Given the description of an element on the screen output the (x, y) to click on. 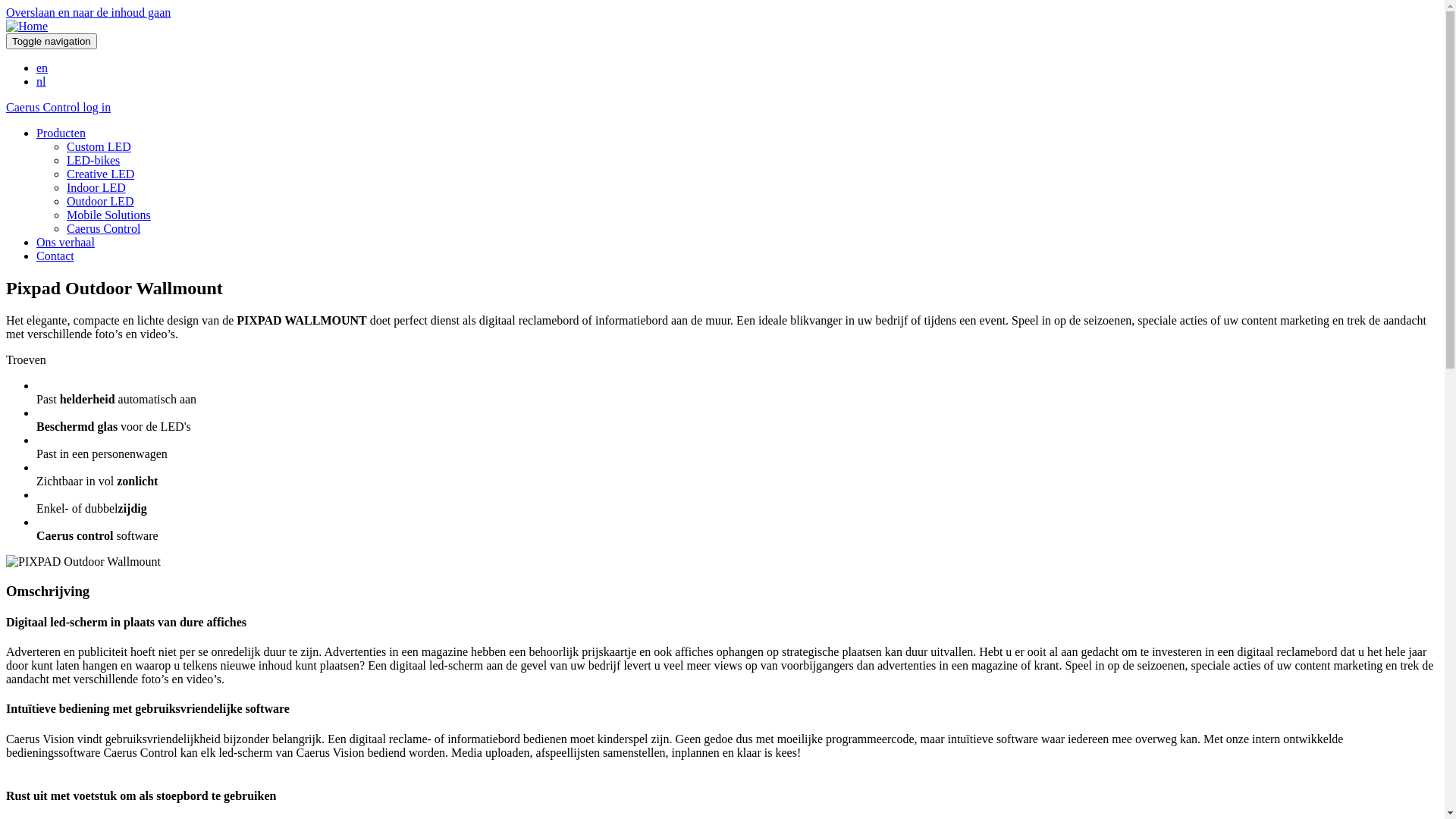
Creative LED Element type: text (100, 173)
Indoor LED Element type: text (95, 187)
Mobile Solutions Element type: text (108, 214)
LED-bikes Element type: text (92, 159)
Contact Element type: text (55, 255)
Toggle navigation Element type: text (51, 41)
Home Element type: hover (26, 25)
Producten Element type: text (60, 132)
Ons verhaal Element type: text (65, 241)
Caerus Control log in Element type: text (58, 106)
nl Element type: text (40, 81)
Overslaan en naar de inhoud gaan Element type: text (88, 12)
Custom LED Element type: text (98, 146)
Outdoor LED Element type: text (99, 200)
en Element type: text (41, 67)
Caerus Control Element type: text (103, 228)
